Given the description of an element on the screen output the (x, y) to click on. 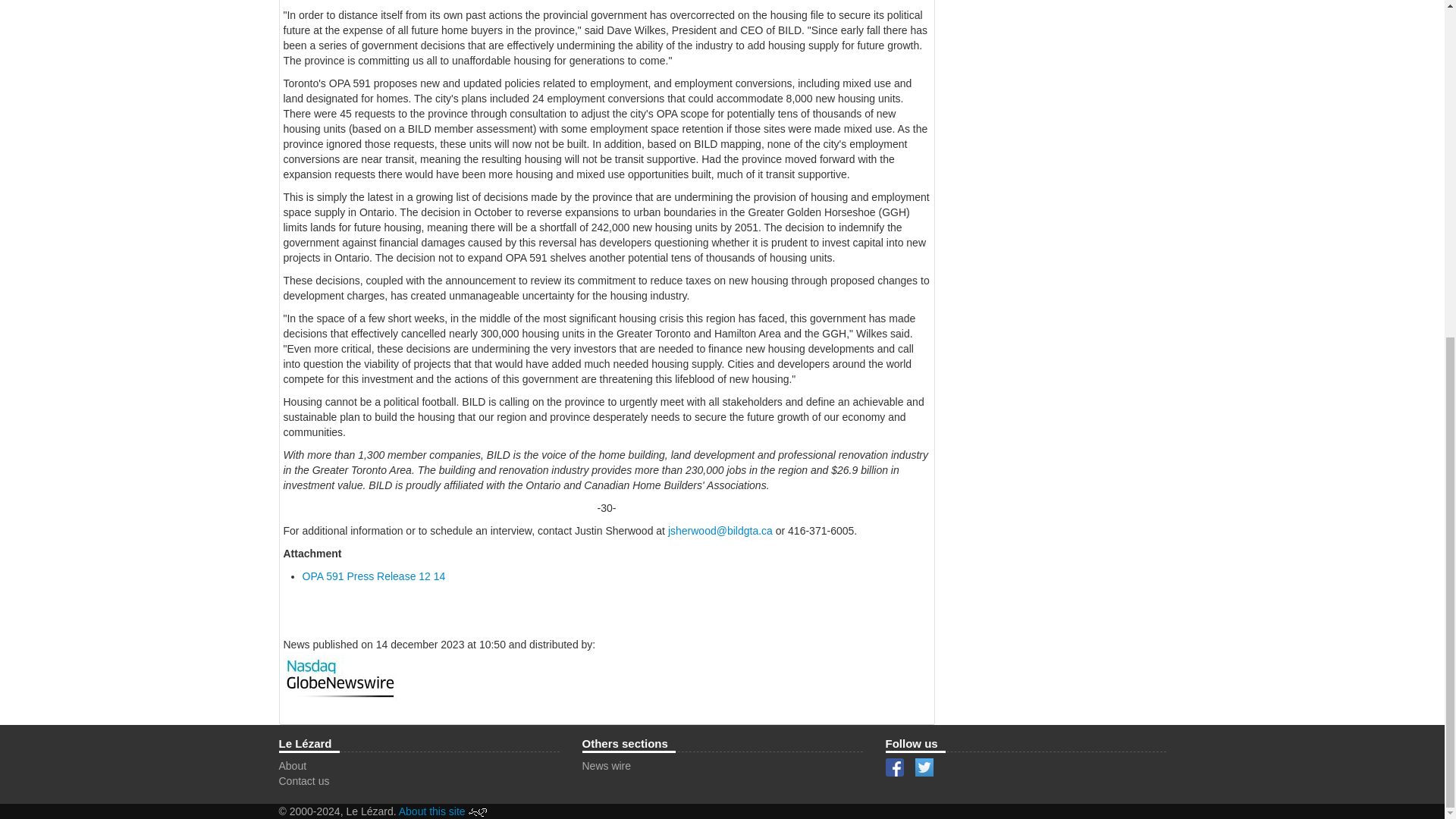
About this site (431, 811)
News wire (606, 766)
About (293, 766)
Contact us (304, 780)
Advertisement (1052, 24)
OPA 591 Press Release 12 14 (373, 576)
